Given the description of an element on the screen output the (x, y) to click on. 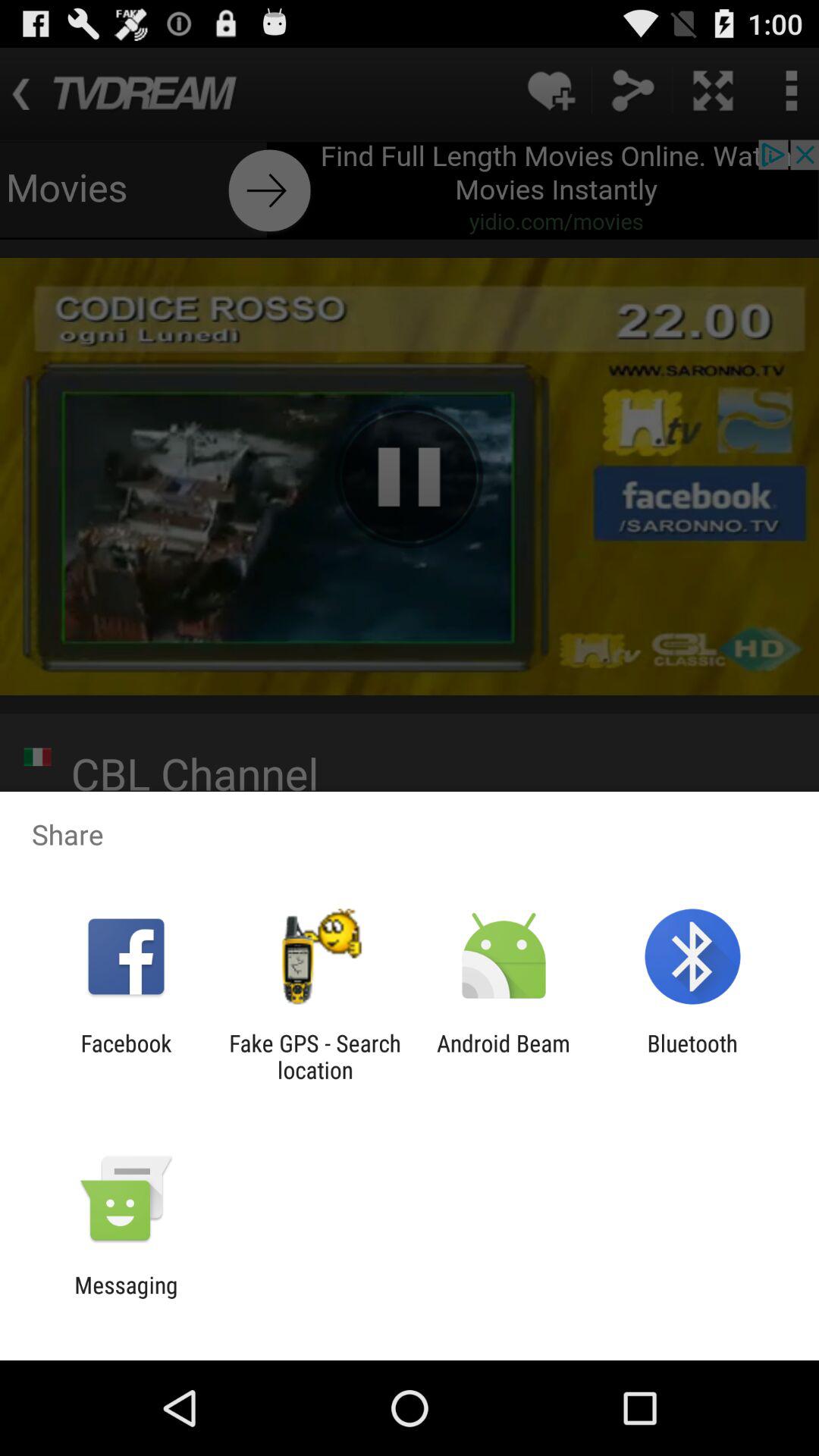
swipe until fake gps search (314, 1056)
